Given the description of an element on the screen output the (x, y) to click on. 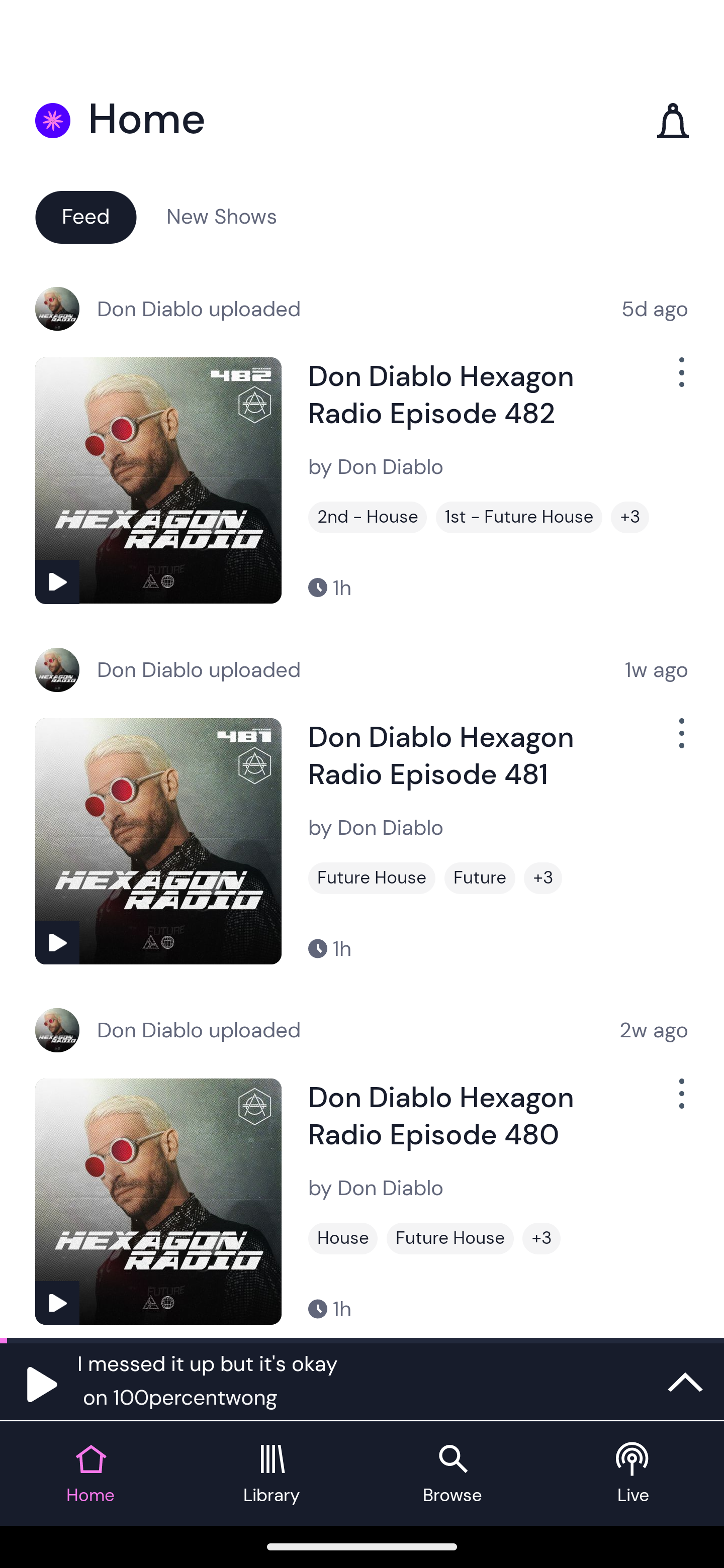
Feed (85, 216)
New Shows (221, 216)
Show Options Menu Button (679, 379)
2nd - House (367, 517)
1st - Future House (518, 517)
Show Options Menu Button (679, 740)
Future House (371, 877)
Future (479, 877)
Show Options Menu Button (679, 1101)
House (342, 1238)
Future House (450, 1238)
Home tab Home (90, 1473)
Library tab Library (271, 1473)
Browse tab Browse (452, 1473)
Live tab Live (633, 1473)
